Given the description of an element on the screen output the (x, y) to click on. 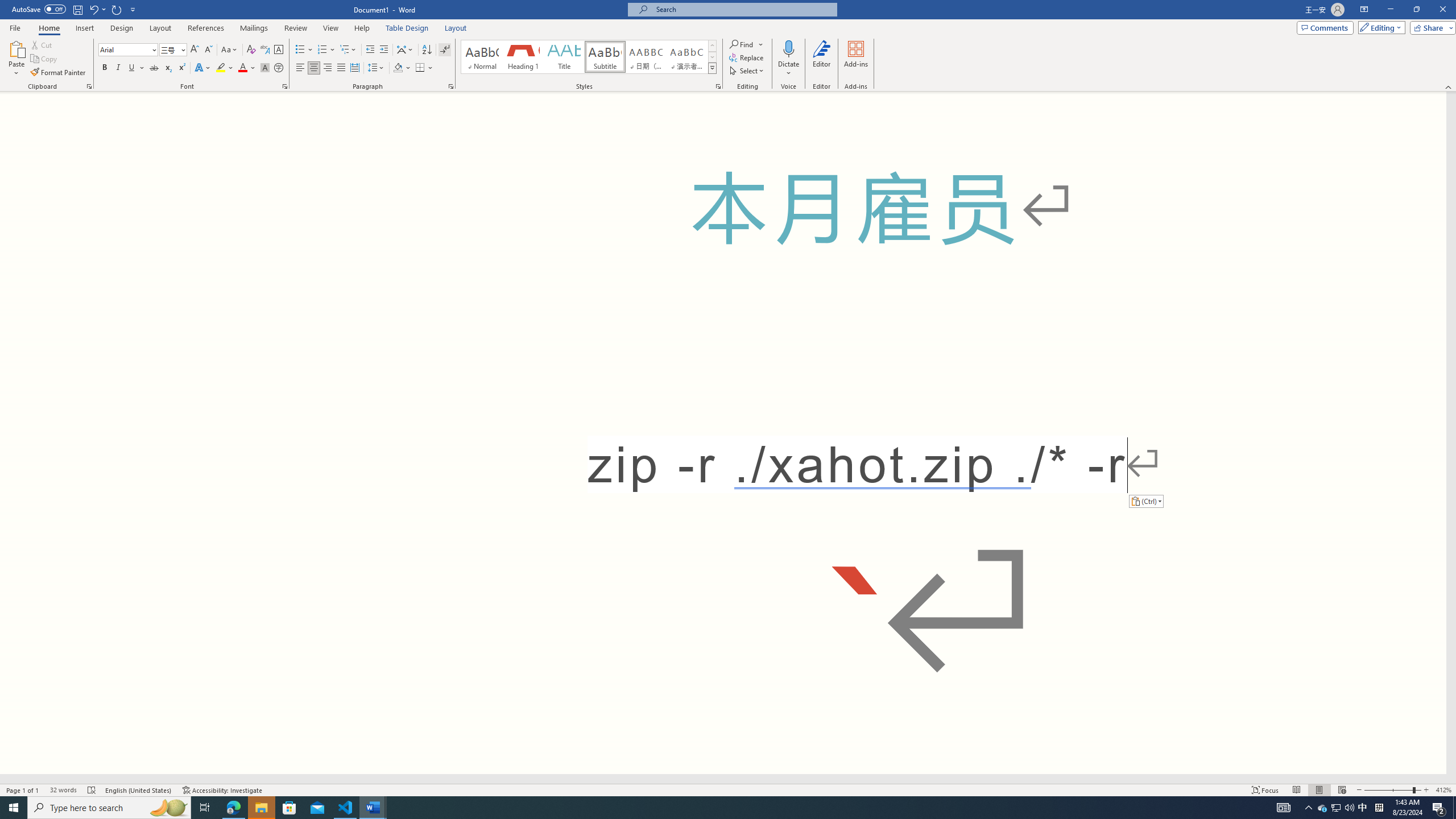
Undo Paste (92, 9)
Zoom 412% (1443, 790)
Subtitle (605, 56)
Replace... (747, 56)
